Given the description of an element on the screen output the (x, y) to click on. 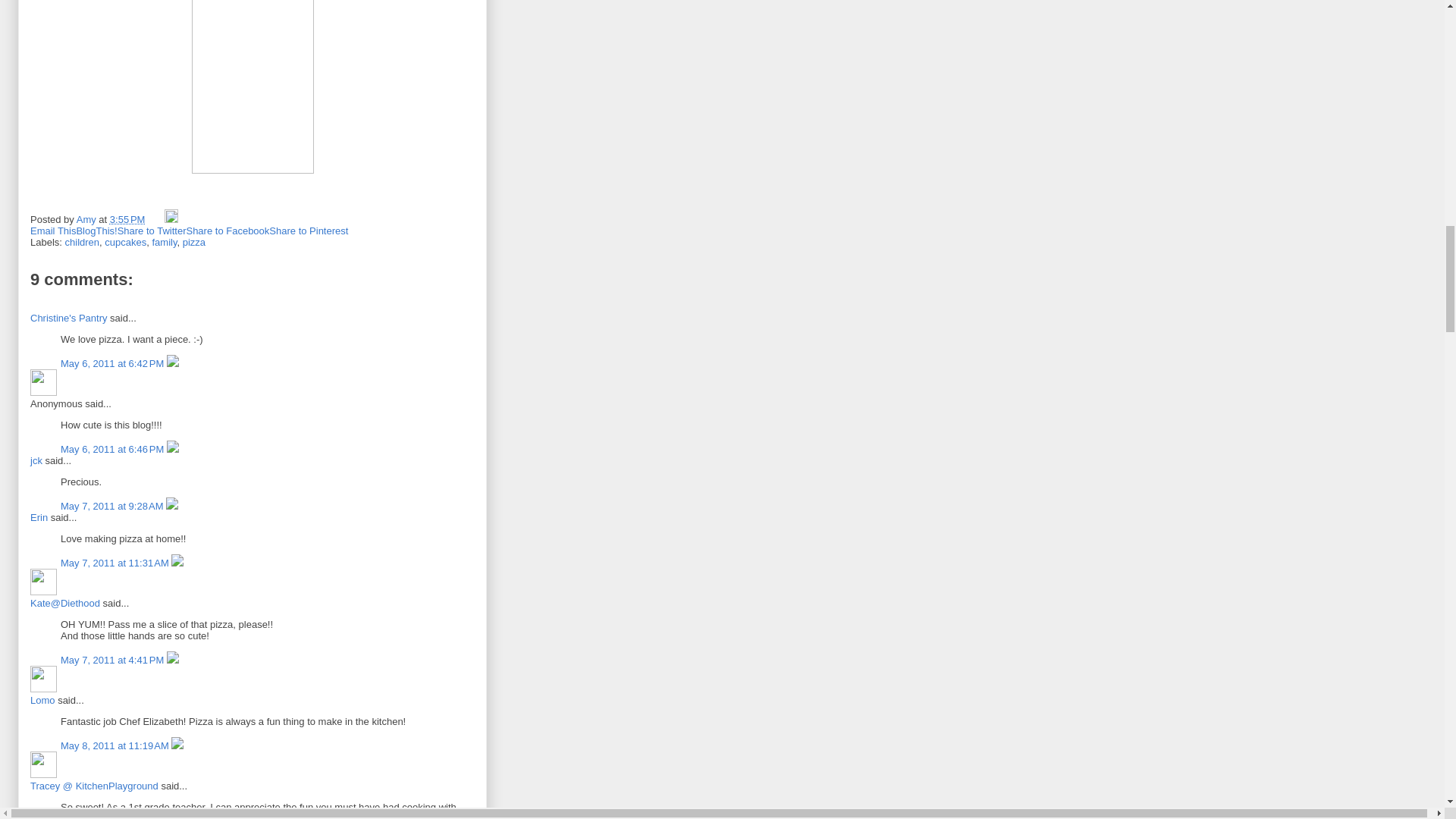
cupcakes (125, 242)
BlogThis! (95, 230)
children (82, 242)
permanent link (127, 219)
BlogThis! (95, 230)
Email This (52, 230)
Delete Comment (173, 449)
Share to Twitter (151, 230)
Christine's Pantry (68, 317)
pizza (194, 242)
author profile (88, 219)
Share to Facebook (227, 230)
family (163, 242)
